Given the description of an element on the screen output the (x, y) to click on. 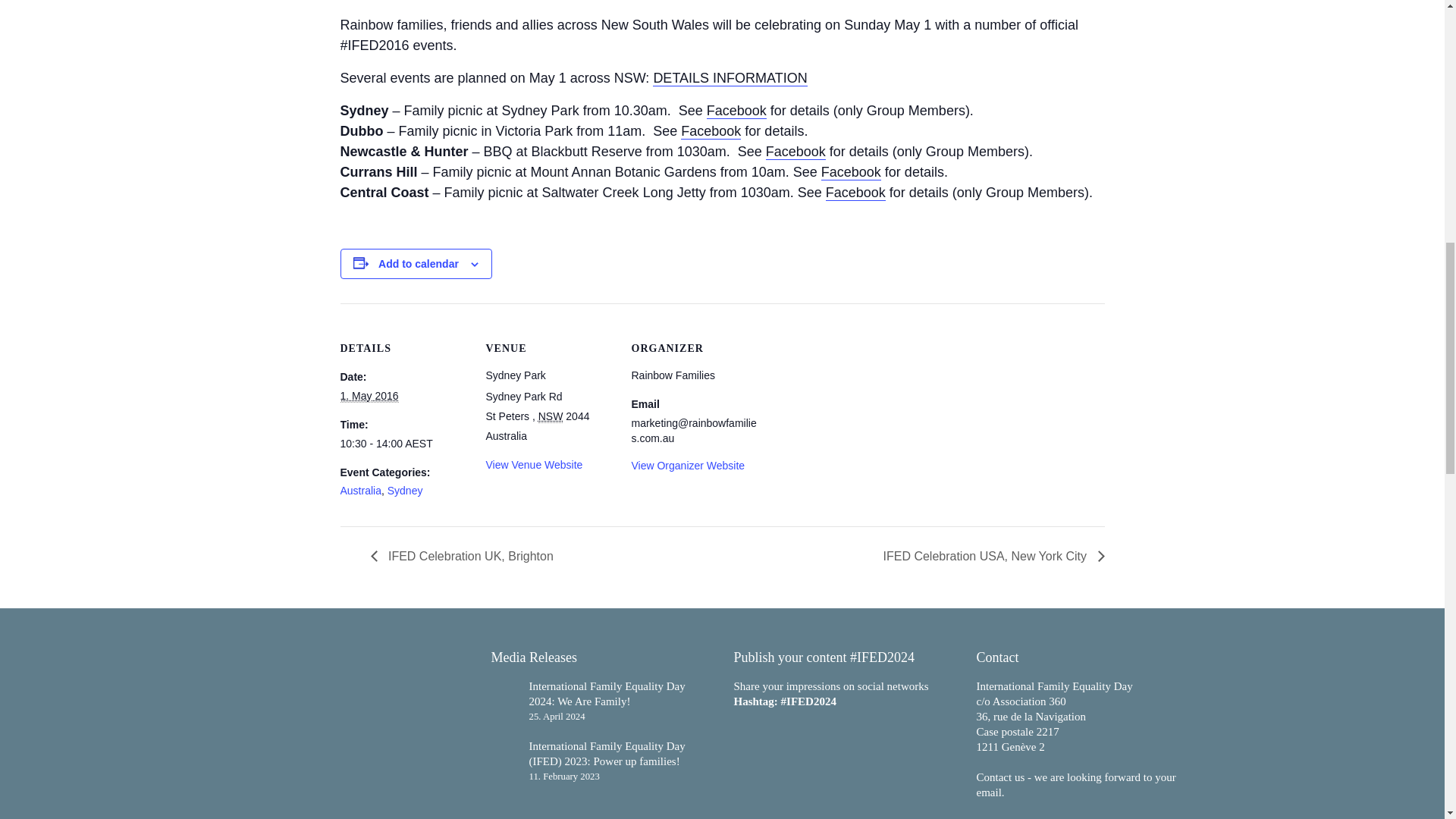
View Venue Website (533, 464)
Australia (359, 490)
Add to calendar (418, 263)
IFED Celebration UK, Brighton (464, 555)
Facebook (736, 110)
Sydney (405, 490)
View Organizer Website (687, 465)
Facebook (795, 151)
IFED Celebration USA, New York City (990, 555)
